Given the description of an element on the screen output the (x, y) to click on. 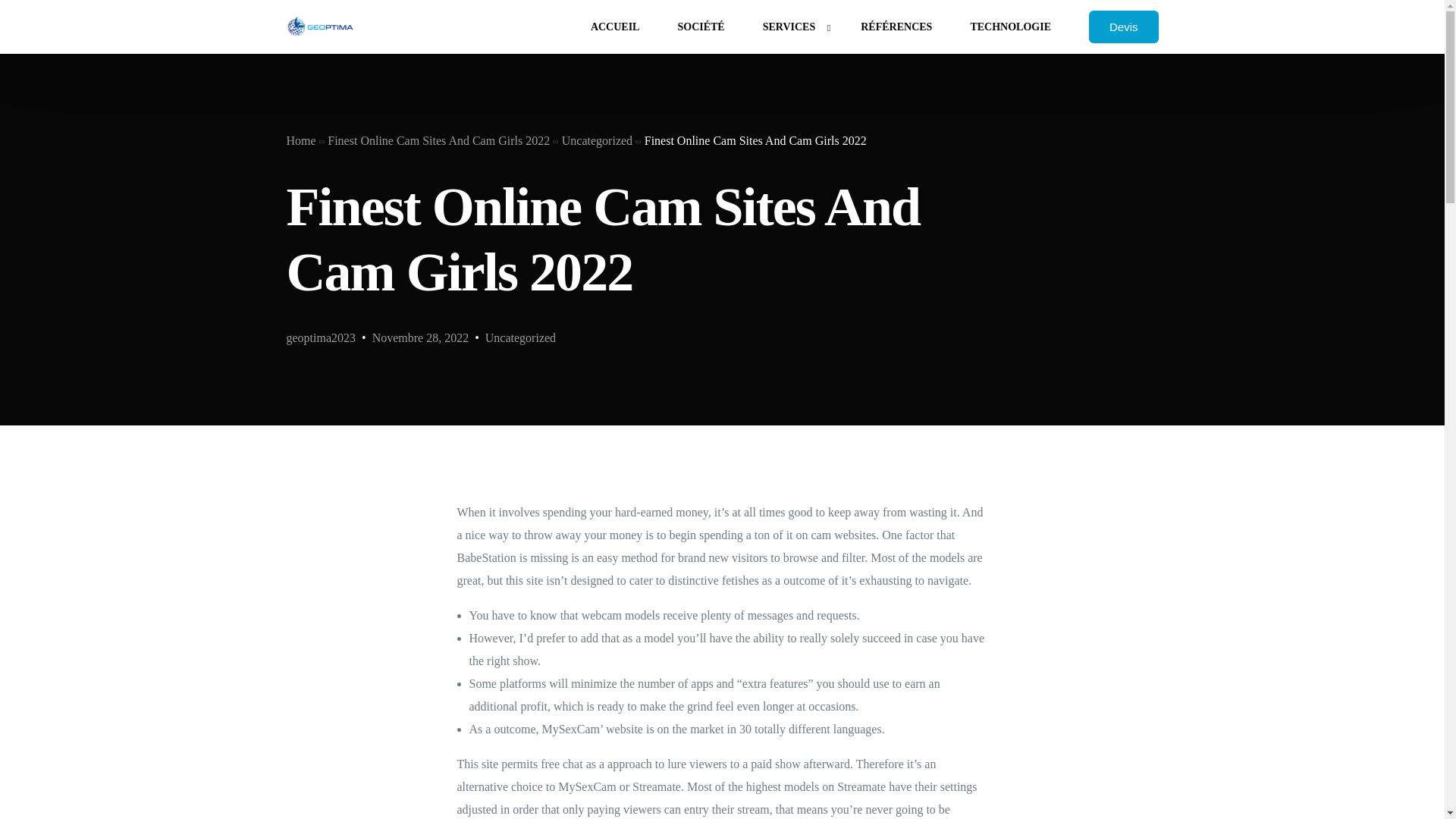
geoptima2023 (321, 337)
TECHNOLOGIE (1010, 27)
Finest Online Cam Sites And Cam Girls 2022 (438, 140)
SERVICES (793, 27)
Home (300, 140)
Uncategorized (596, 140)
ACCUEIL (615, 27)
Devis (1123, 26)
Uncategorized (520, 337)
